Given the description of an element on the screen output the (x, y) to click on. 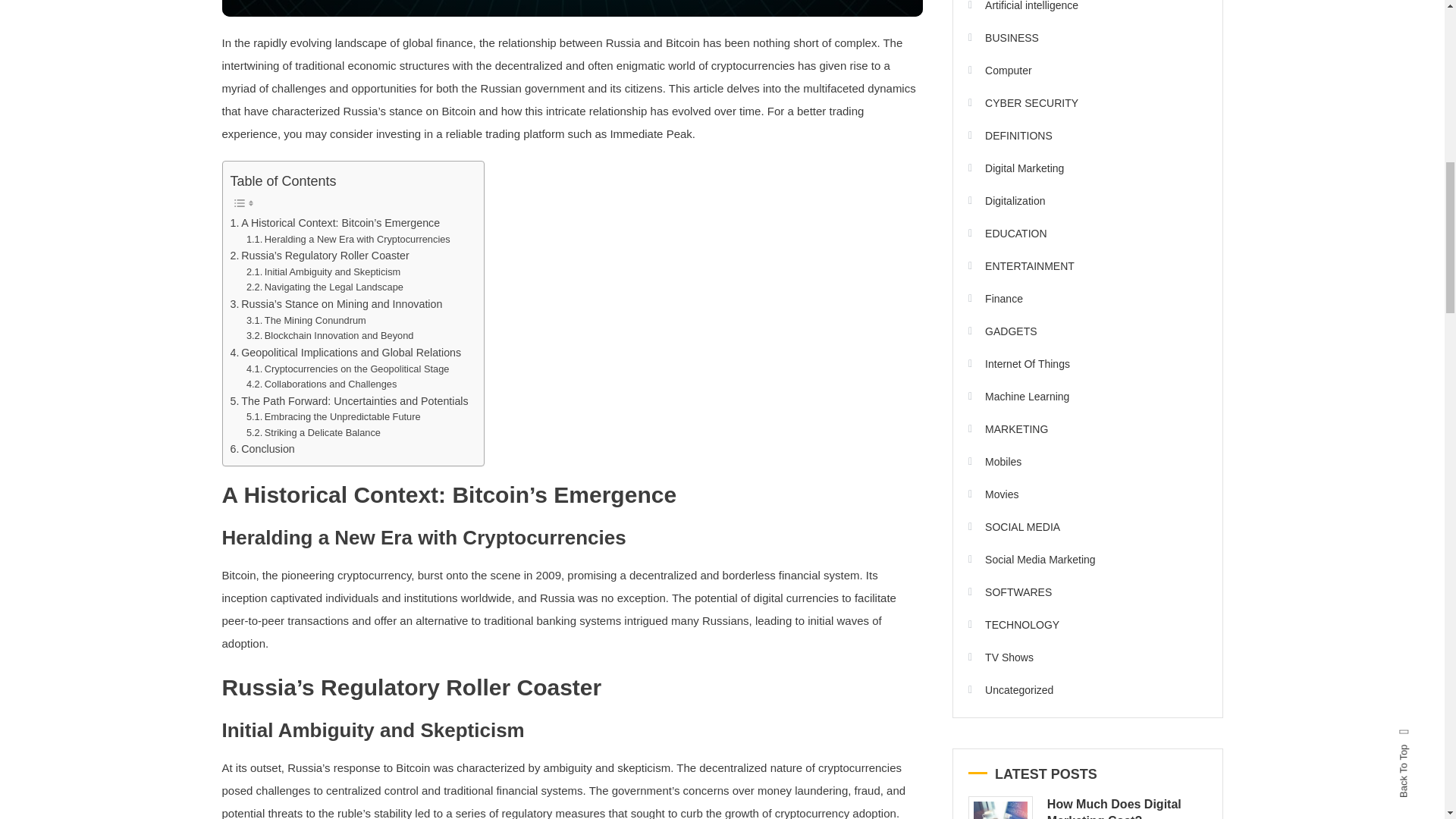
Embracing the Unpredictable Future (333, 417)
Navigating the Legal Landscape (324, 287)
Collaborations and Challenges (321, 384)
Initial Ambiguity and Skepticism (323, 272)
Conclusion (262, 448)
Geopolitical Implications and Global Relations (345, 352)
Blockchain Innovation and Beyond (329, 335)
Heralding a New Era with Cryptocurrencies (347, 239)
The Path Forward: Uncertainties and Potentials (349, 401)
The Mining Conundrum (306, 320)
Striking a Delicate Balance (313, 433)
Cryptocurrencies on the Geopolitical Stage (347, 369)
